Given the description of an element on the screen output the (x, y) to click on. 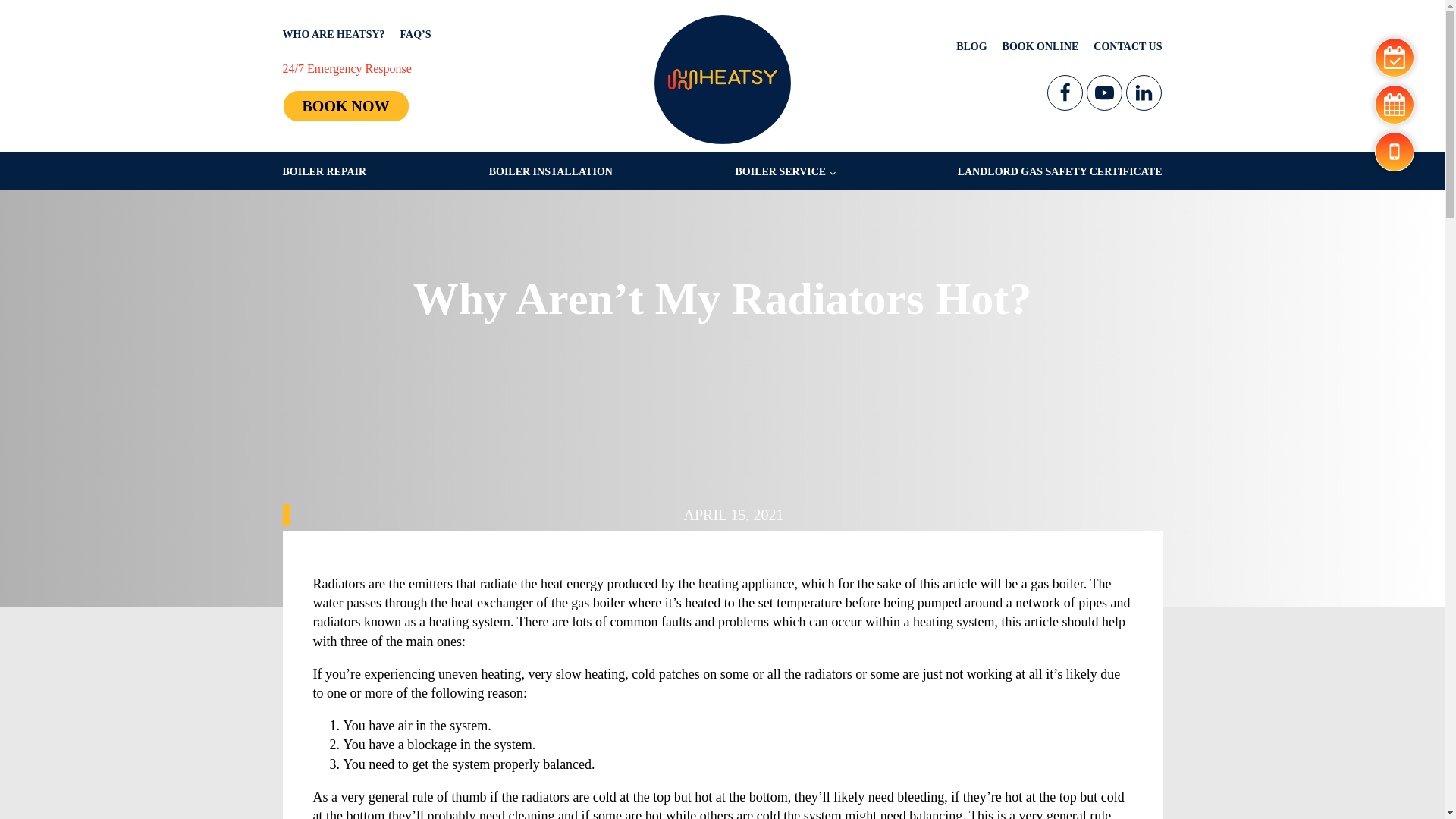
CONTACT US (1127, 45)
BOILER REPAIR (324, 171)
BOOK ONLINE (1040, 45)
BOOK NOW (345, 106)
BOILER SERVICE (784, 171)
BOILER INSTALLATION (550, 171)
LANDLORD GAS SAFETY CERTIFICATE (1059, 171)
BLOG (971, 45)
WHO ARE HEATSY? (333, 34)
